Given the description of an element on the screen output the (x, y) to click on. 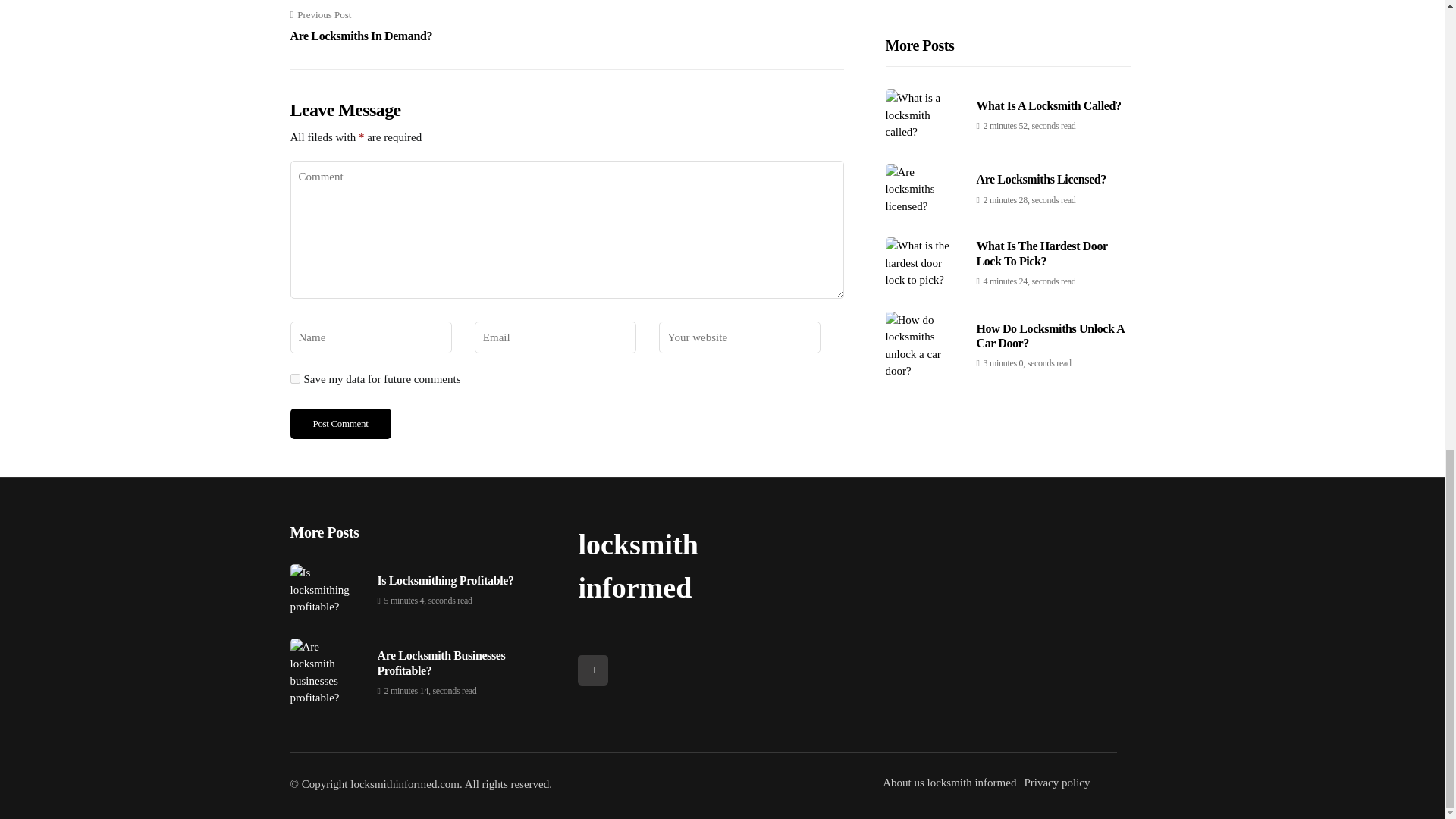
Post Comment (339, 423)
Post Comment (360, 26)
yes (339, 423)
